Given the description of an element on the screen output the (x, y) to click on. 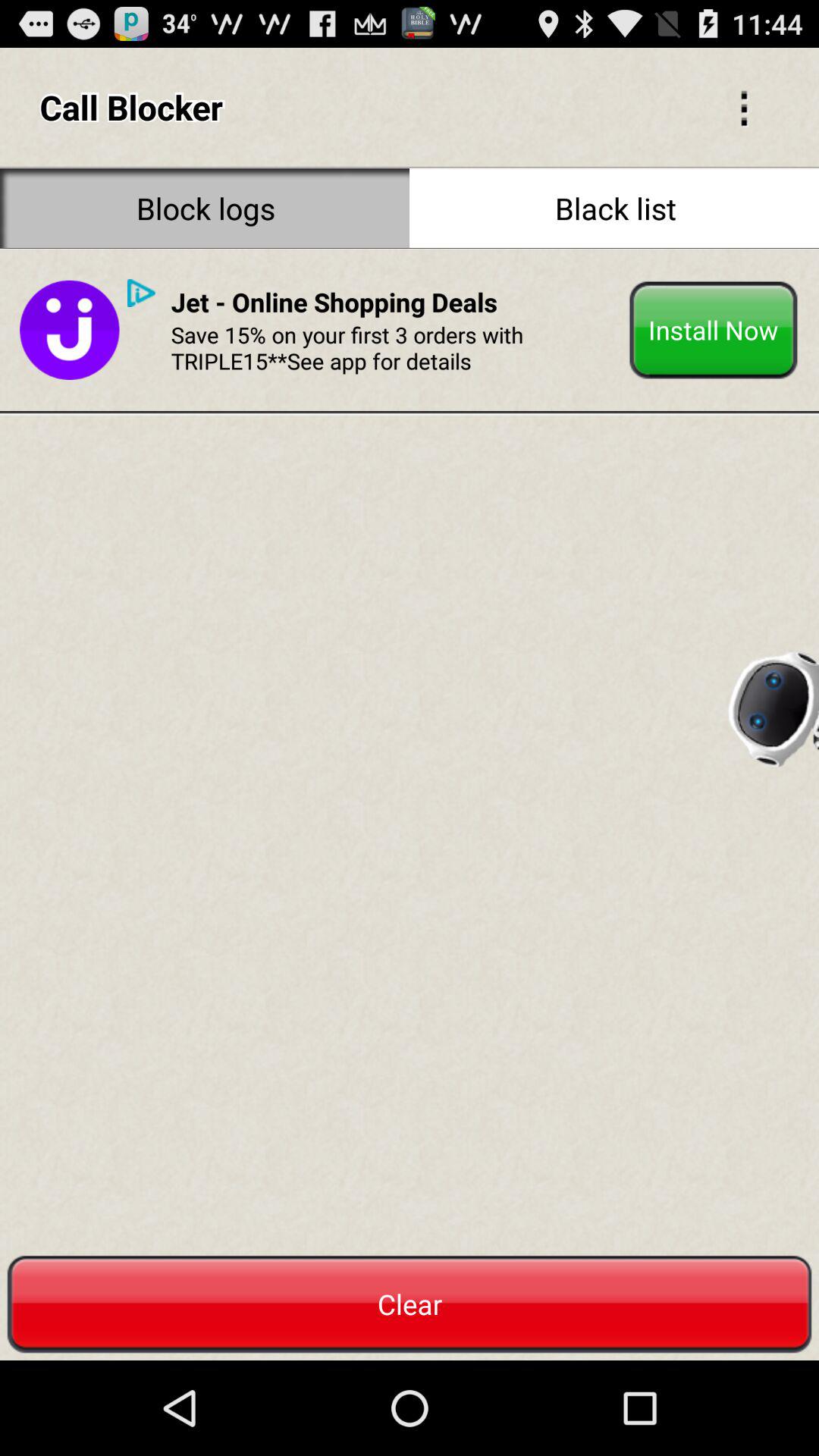
tap icon above clear item (141, 293)
